Given the description of an element on the screen output the (x, y) to click on. 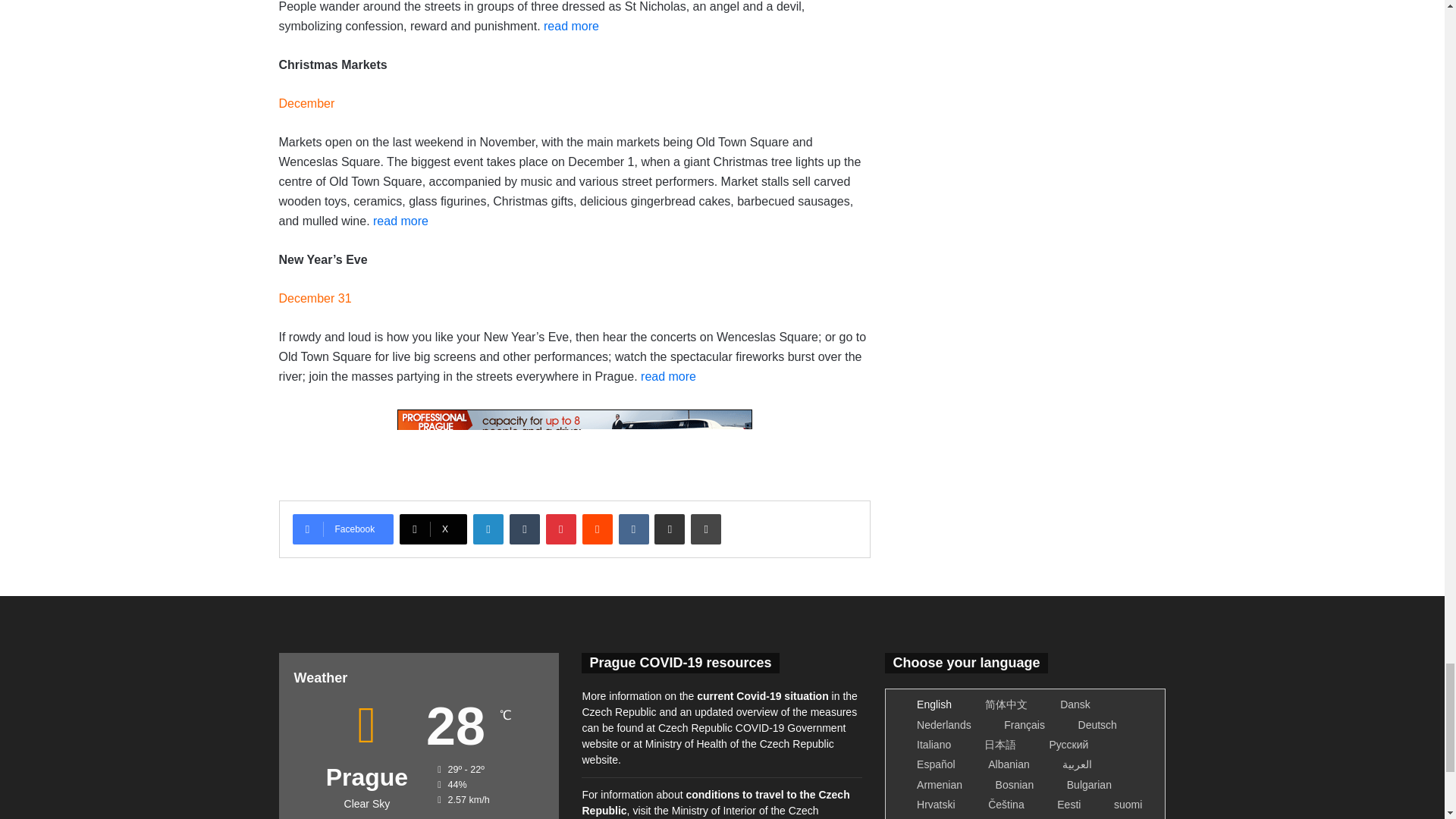
Pinterest (561, 529)
Tumblr (524, 529)
Facebook (343, 529)
St. Nicholas Day in Prague (570, 25)
Share via Email (668, 529)
Reddit (597, 529)
VKontakte (633, 529)
Prague Christmas Markets (400, 220)
Print (705, 529)
X (432, 529)
LinkedIn (488, 529)
